Given the description of an element on the screen output the (x, y) to click on. 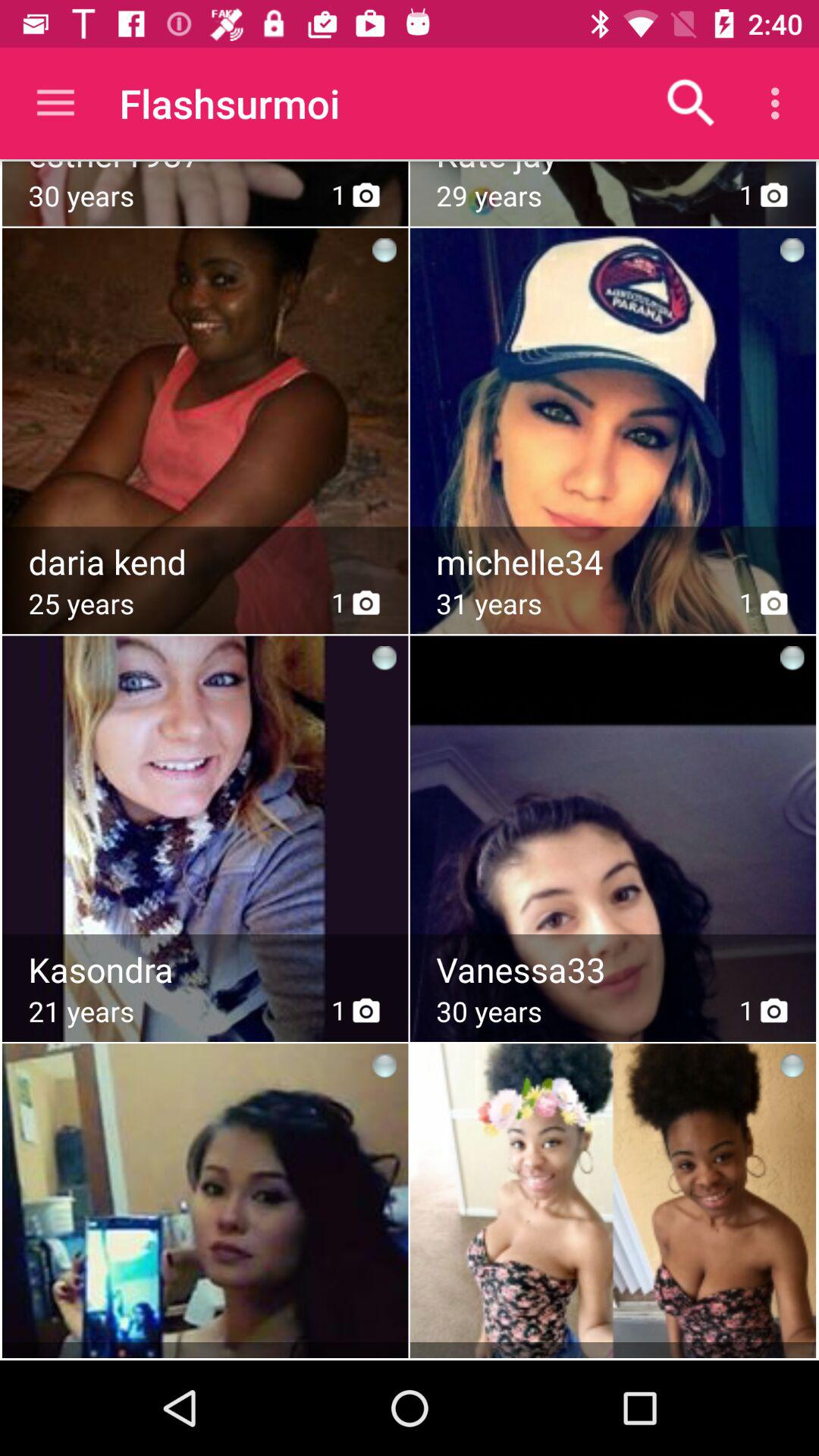
tap icon next to the flashsurmoi item (55, 103)
